Given the description of an element on the screen output the (x, y) to click on. 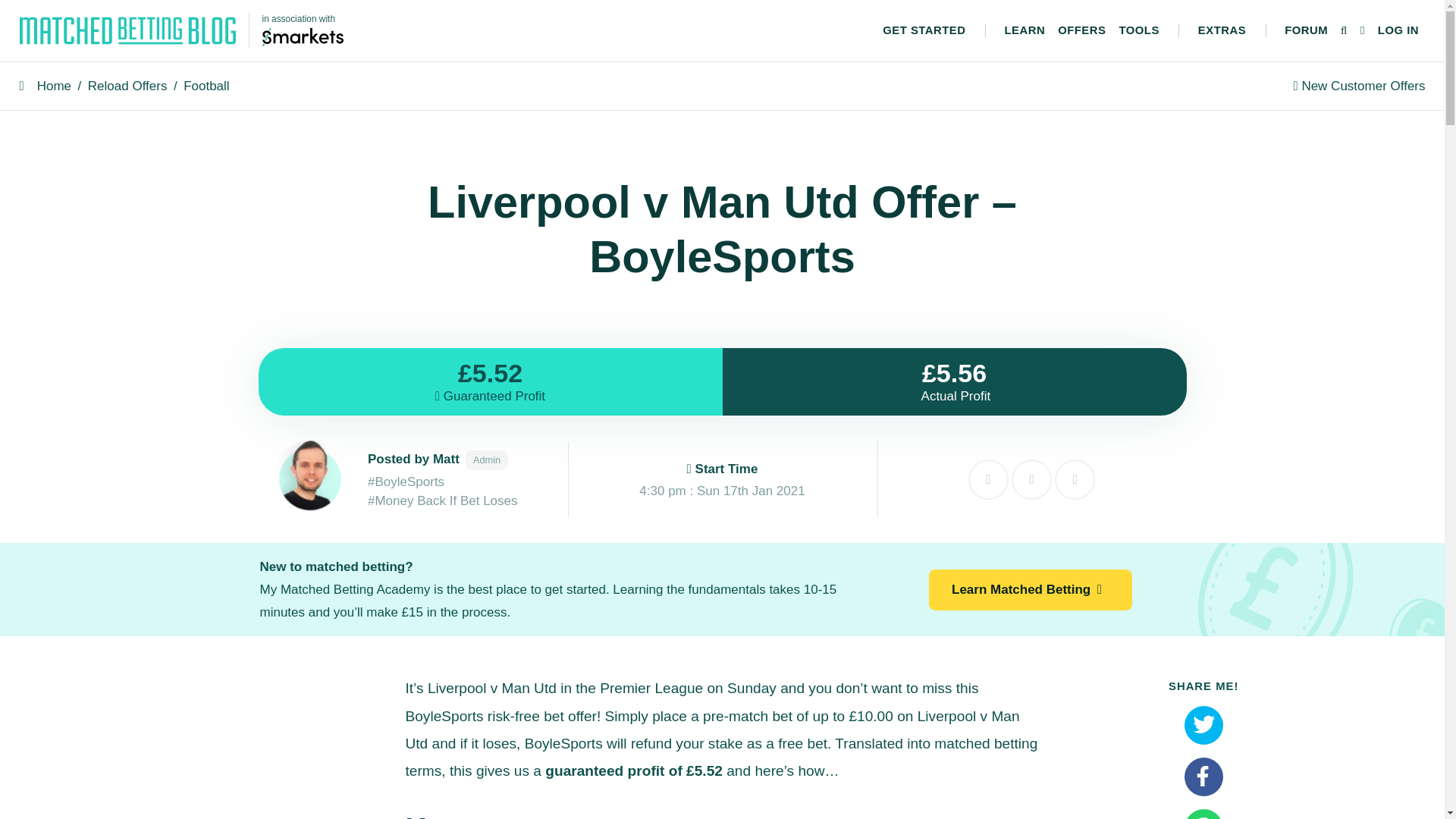
EXTRAS (1221, 30)
Smarkets - Promo Landing (302, 36)
Get Started (924, 30)
FORUM (1306, 30)
Tools (1139, 30)
Log in (1398, 30)
TOOLS (1139, 30)
Extras (1221, 30)
Colour theme (1362, 30)
Forum (1306, 30)
Offers (1081, 30)
GET STARTED (924, 30)
Learn (1024, 30)
LEARN (1024, 30)
OFFERS (1081, 30)
